Given the description of an element on the screen output the (x, y) to click on. 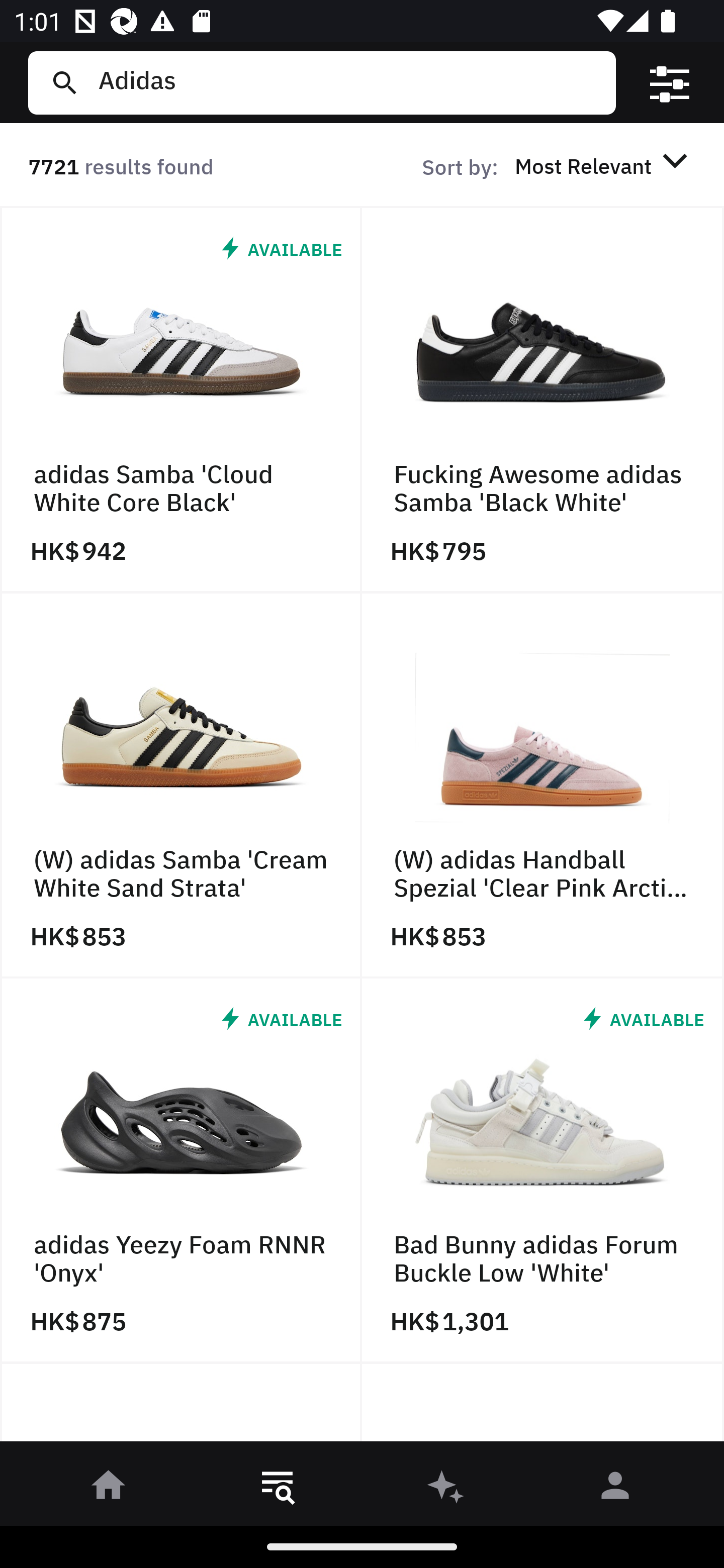
Adidas (349, 82)
 (669, 82)
Most Relevant  (604, 165)
Fucking Awesome adidas Samba 'Black White' HK$ 795 (543, 399)
(W) adidas Samba 'Cream White Sand Strata' HK$ 853 (181, 785)
 AVAILABLE adidas Yeezy Foam RNNR 'Onyx' HK$ 875 (181, 1171)
󰋜 (108, 1488)
󱎸 (277, 1488)
󰫢 (446, 1488)
󰀄 (615, 1488)
